Given the description of an element on the screen output the (x, y) to click on. 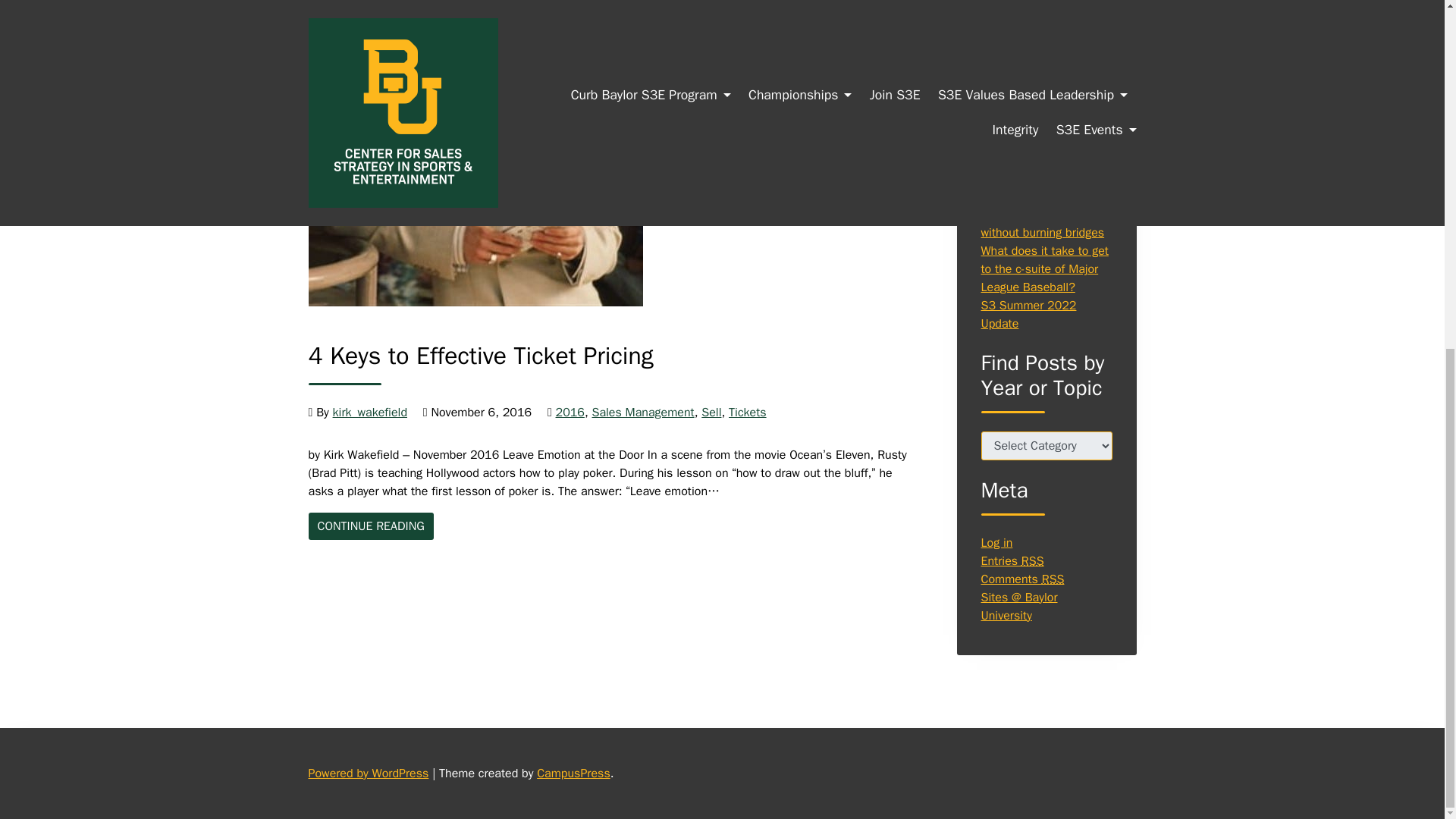
NCSAC FAQs (1015, 177)
October S3 Newsletter (1040, 196)
S3 Summer 2022 Update (1029, 314)
2016 (570, 412)
Sales Management (369, 525)
Entries RSS (642, 412)
Tickets (1012, 560)
Log in (748, 412)
